Given the description of an element on the screen output the (x, y) to click on. 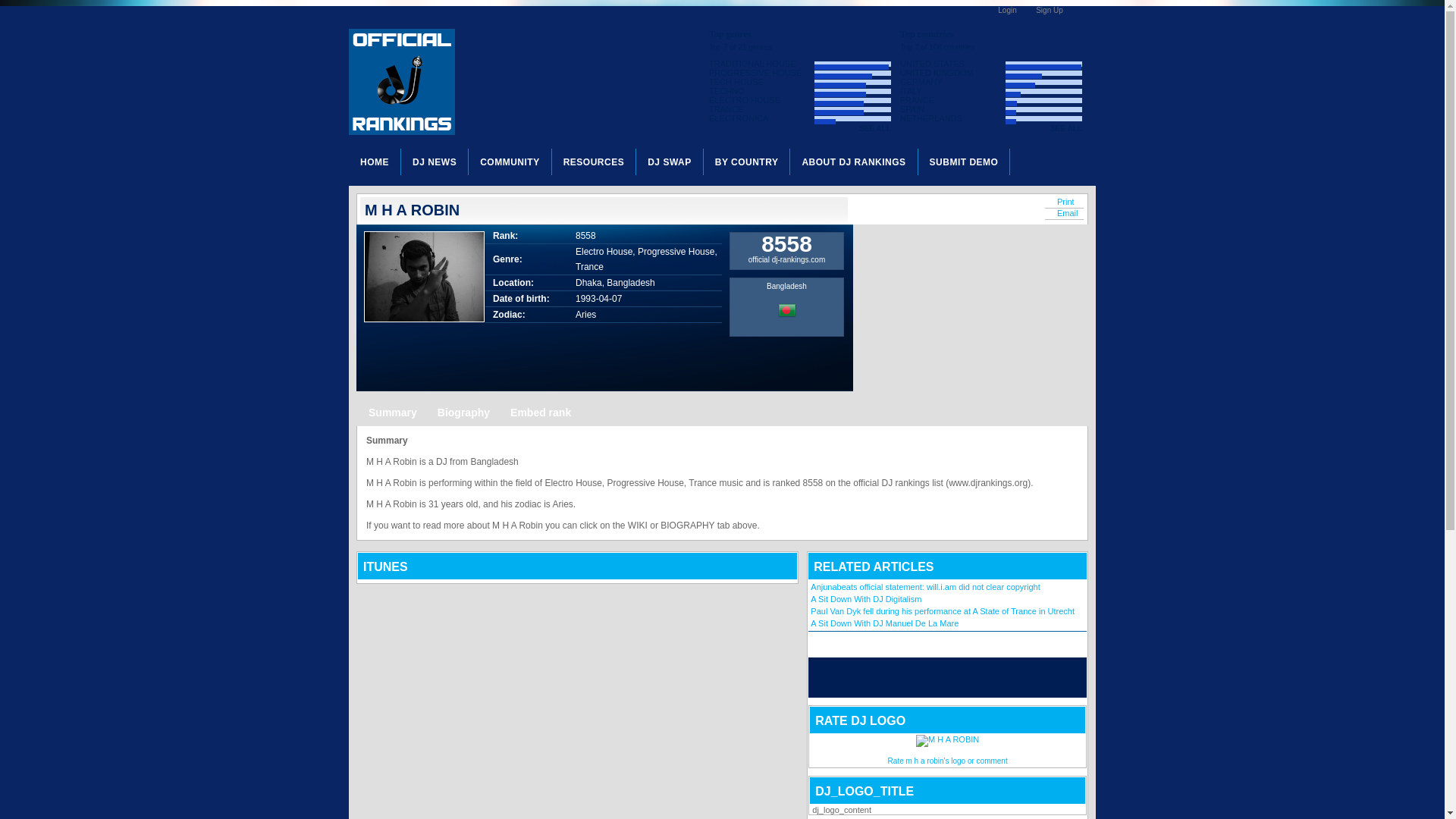
DJ NEWS (434, 161)
WILLIE G. (832, 353)
SEE ALL (875, 128)
Go (1012, 677)
Summary (392, 411)
DJ SWAP (669, 161)
Login (1007, 10)
A Sit Down With DJ Manuel De La Mare (884, 623)
Email (1064, 214)
Embed rank (540, 411)
SEE ALL (1065, 128)
BY COUNTRY (746, 161)
COMMUNITY (509, 161)
